Given the description of an element on the screen output the (x, y) to click on. 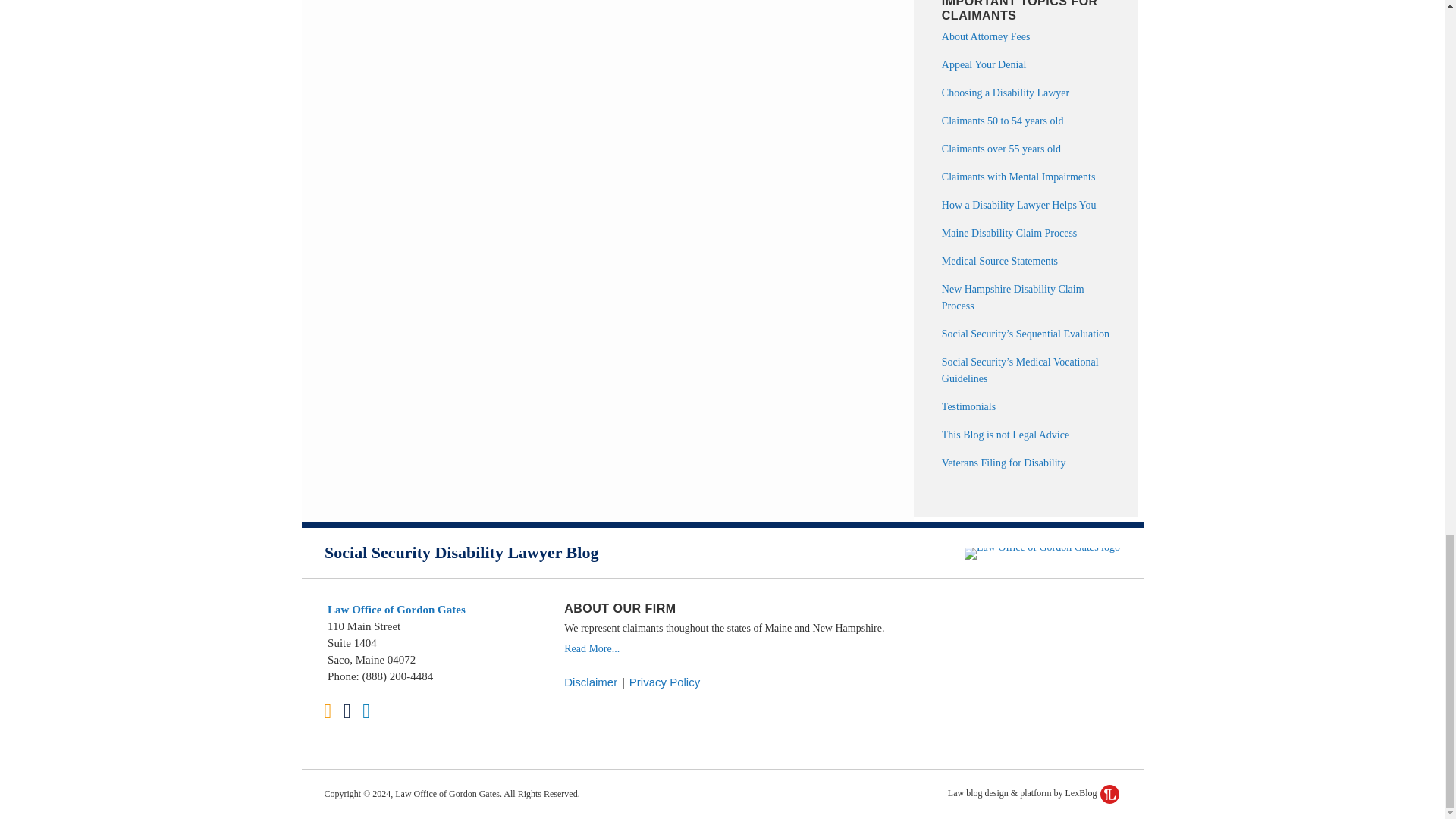
How a Disability Lawyer Helps You (1019, 204)
Claimants over 55 years old (1001, 148)
Claimants with Mental Impairments (1019, 176)
Claimants 50 to 54 years old (1003, 120)
About Attorney Fees (986, 36)
LexBlog Logo (1109, 793)
Appeal Your Denial (984, 64)
Maine Disability Claim Process (1009, 233)
Choosing a Disability Lawyer (1005, 92)
